Given the description of an element on the screen output the (x, y) to click on. 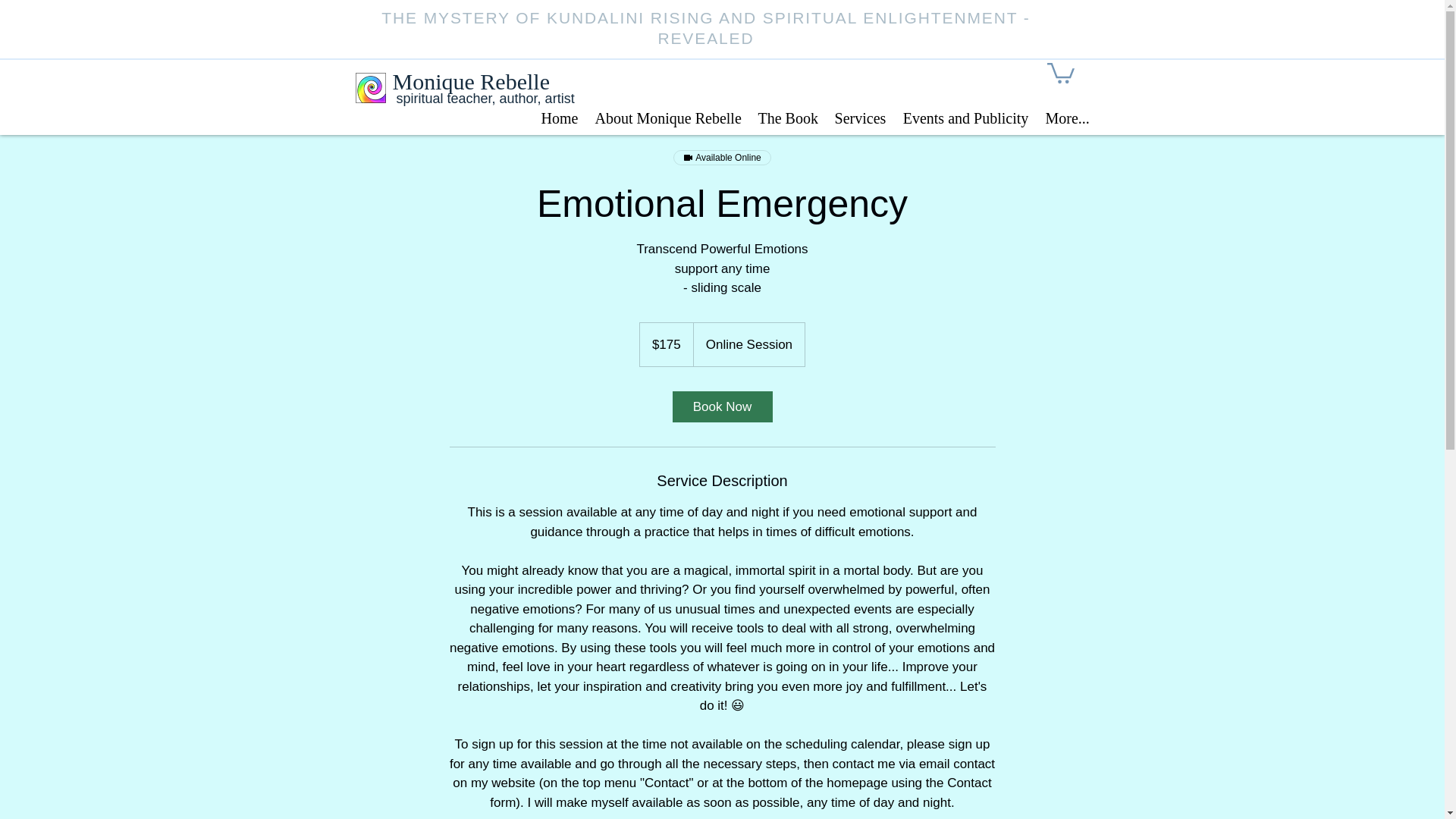
Services (861, 116)
About Monique Rebelle (667, 116)
Events and Publicity (965, 116)
Book Now (721, 406)
The Book (787, 116)
Home (559, 116)
